Given the description of an element on the screen output the (x, y) to click on. 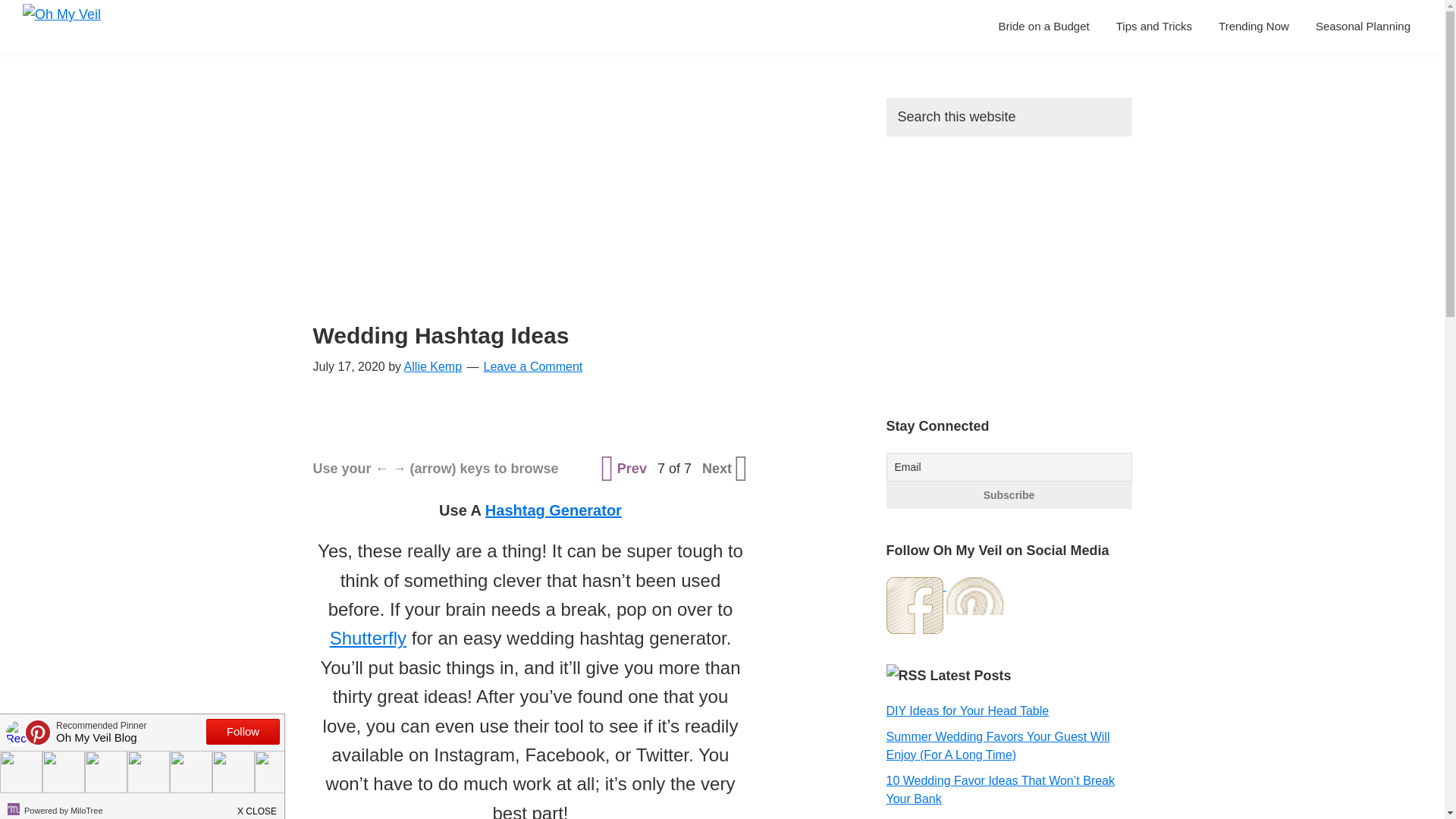
Pinterest (974, 605)
Bride on a Budget (1043, 25)
Leave a Comment (533, 366)
Shutterfly (368, 638)
Allie Kemp (432, 366)
Facebook (913, 605)
Subscribe (1008, 494)
Subscribe (1008, 494)
